Given the description of an element on the screen output the (x, y) to click on. 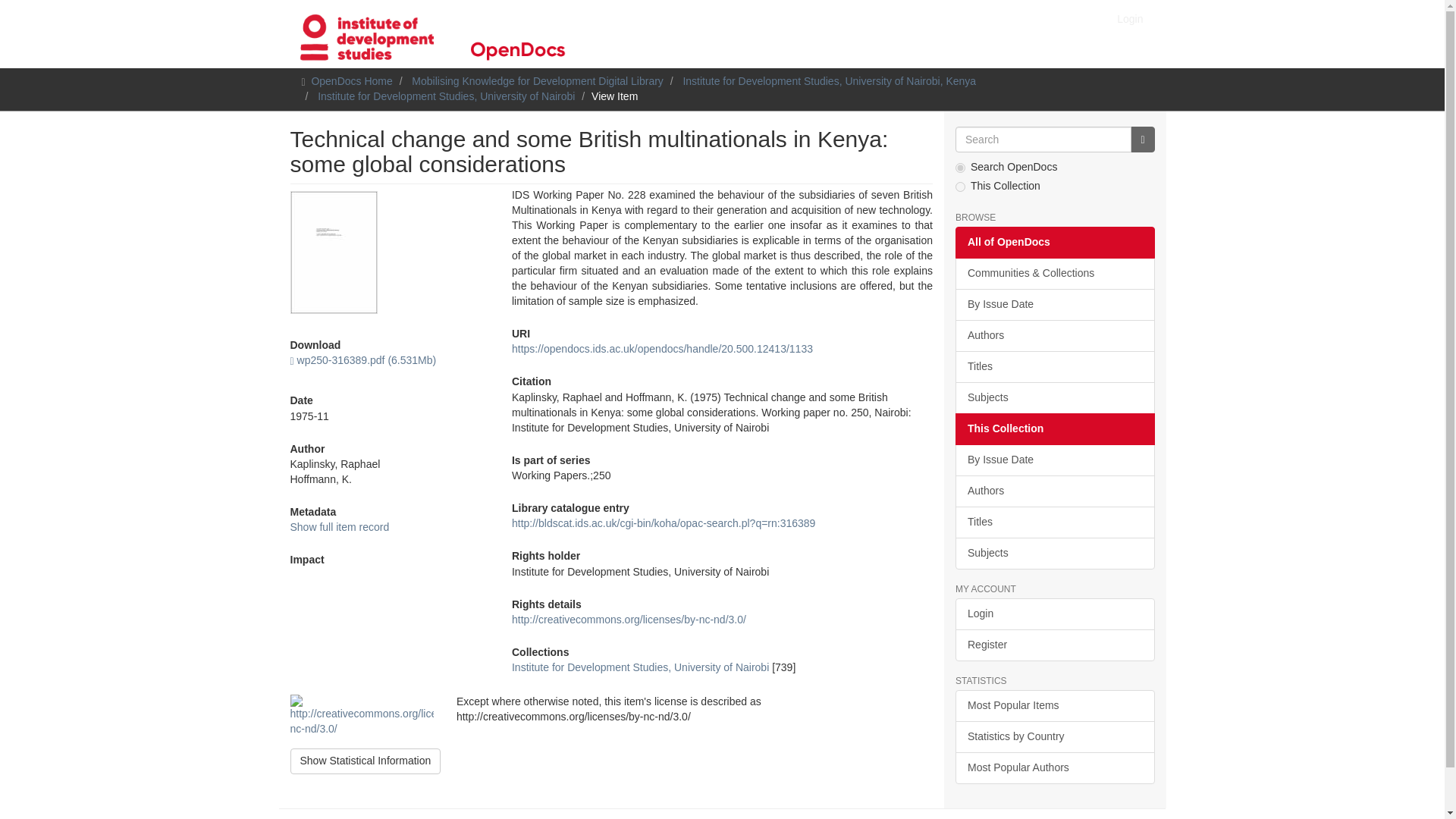
Show Statistical Information (365, 760)
By Issue Date (1054, 459)
Institute for Development Studies, University of Nairobi (640, 666)
Mobilising Knowledge for Development Digital Library (537, 80)
Institute for Development Studies, University of Nairobi (446, 96)
This Collection (1054, 429)
Authors (1054, 490)
OpenDocs Home (351, 80)
Titles (1054, 367)
Login (1129, 18)
Go (1142, 139)
Show full item record (338, 526)
By Issue Date (1054, 305)
All of OpenDocs (1054, 242)
